Given the description of an element on the screen output the (x, y) to click on. 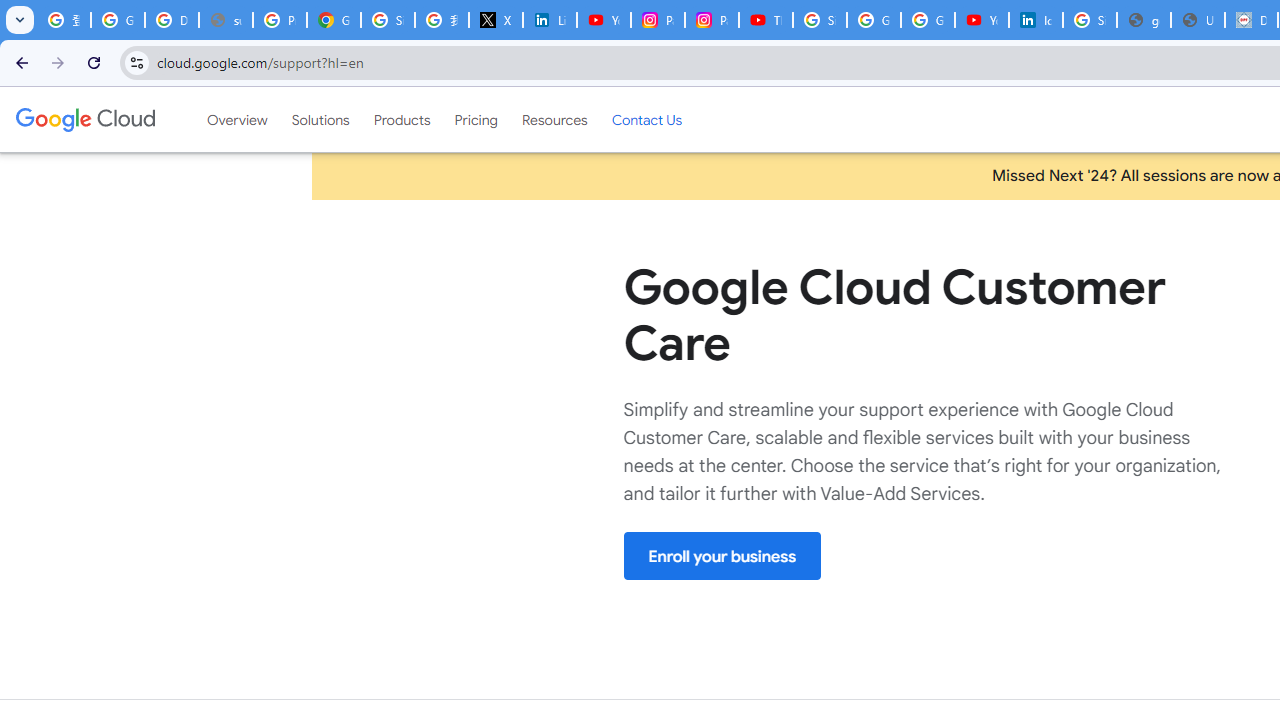
User Details (1197, 20)
Pricing (476, 119)
X (495, 20)
Resources (553, 119)
